Given the description of an element on the screen output the (x, y) to click on. 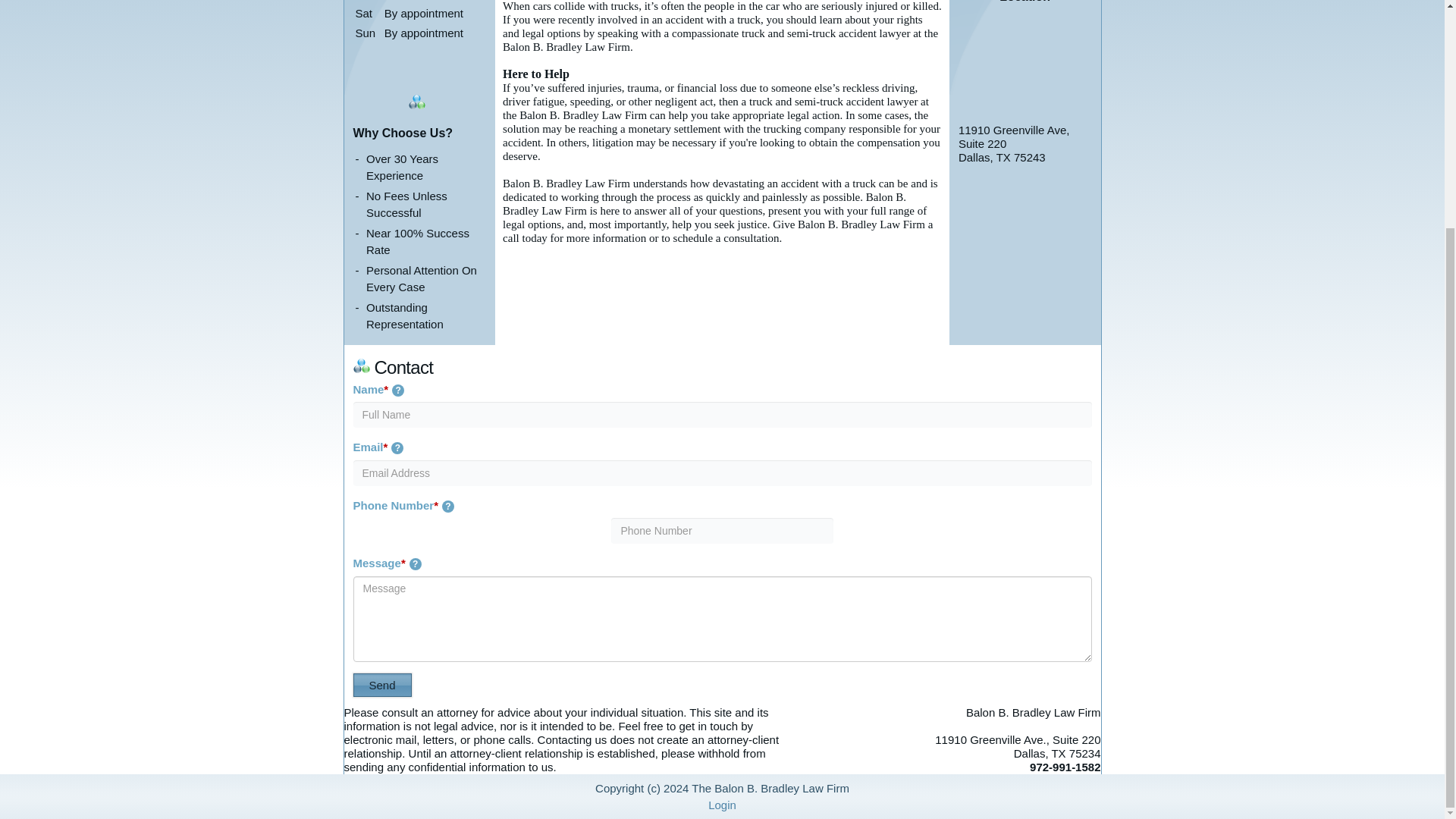
Login (721, 804)
Send (382, 684)
Login (721, 804)
Enter your email address (722, 473)
Enter your full name (722, 414)
Enter your Phone Number (721, 530)
Enter the message (722, 618)
Send (382, 684)
